Given the description of an element on the screen output the (x, y) to click on. 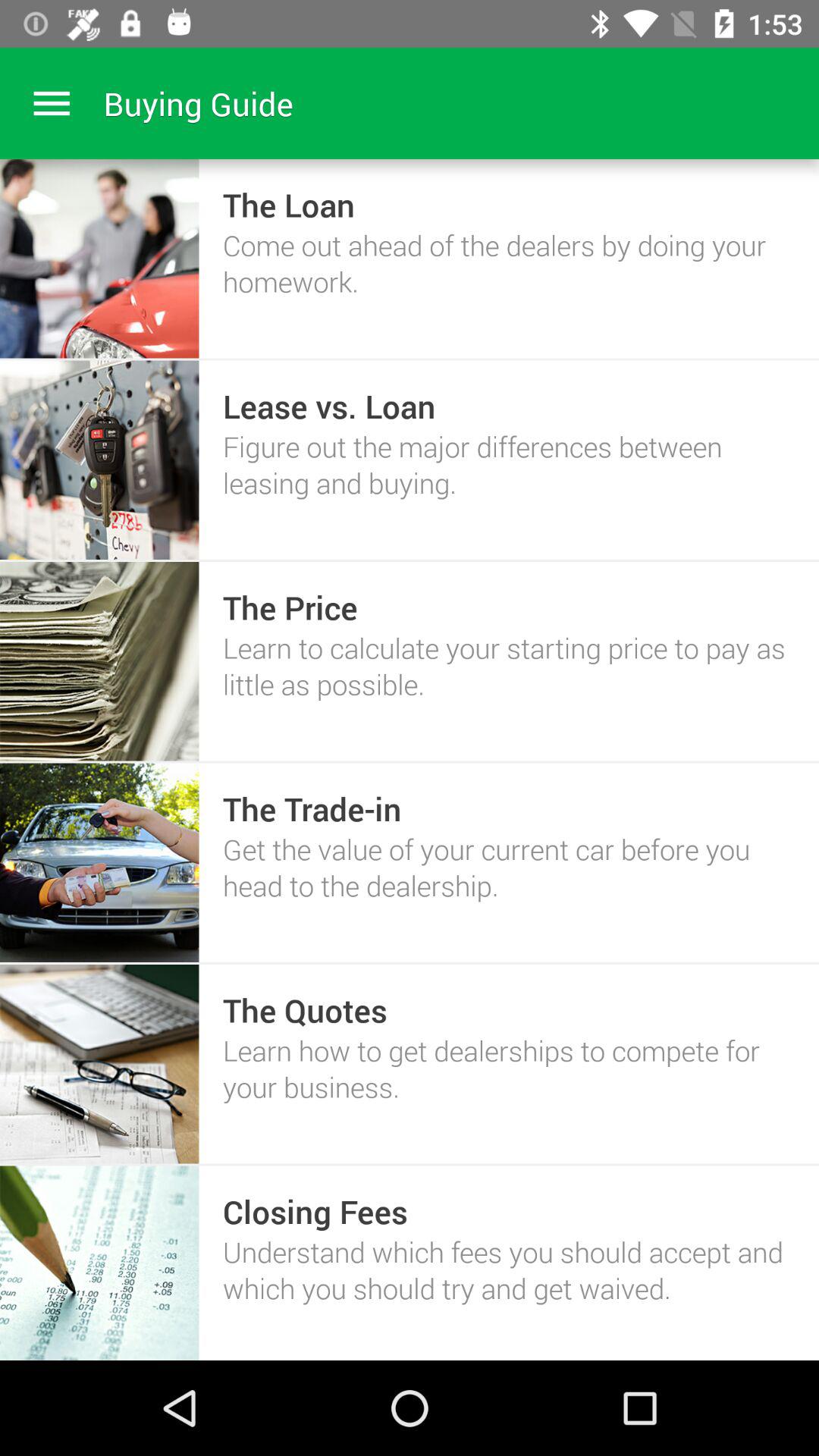
flip to the the price item (289, 607)
